Given the description of an element on the screen output the (x, y) to click on. 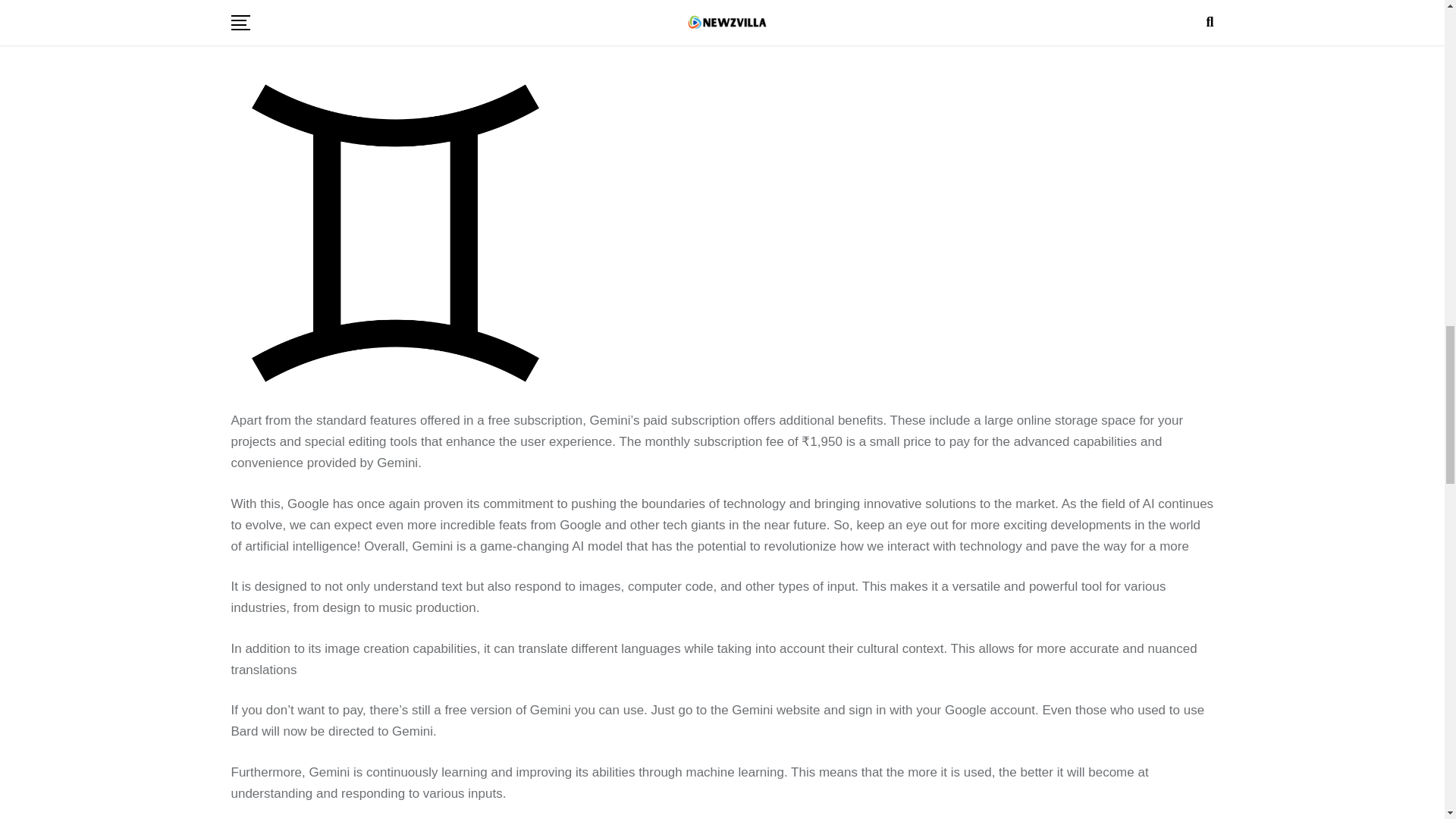
Newzvilla (394, 232)
